Given the description of an element on the screen output the (x, y) to click on. 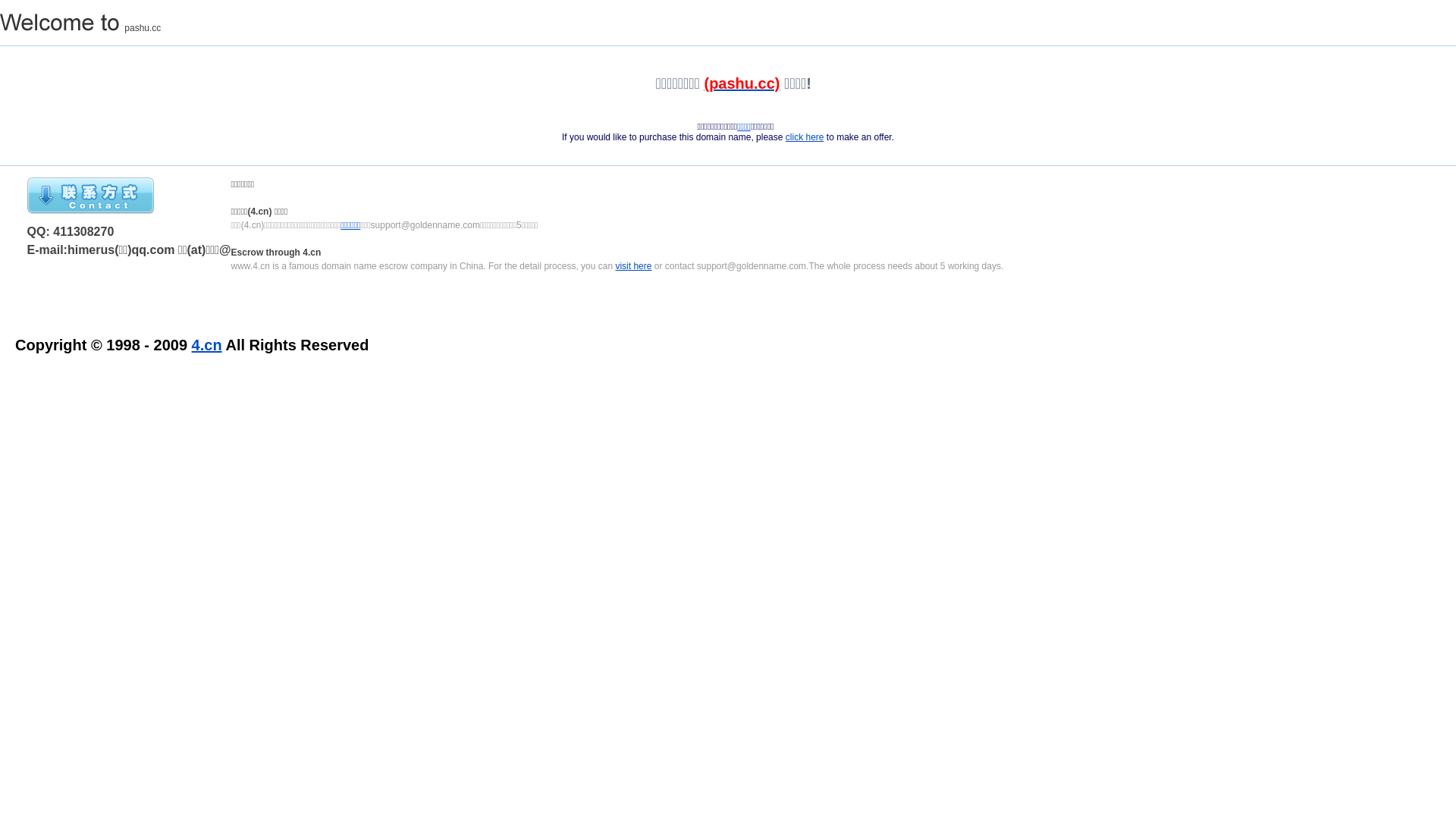
(pashu.cc) Element type: text (741, 83)
click here Element type: text (804, 136)
4.cn Element type: text (206, 344)
visit here Element type: text (633, 265)
